Given the description of an element on the screen output the (x, y) to click on. 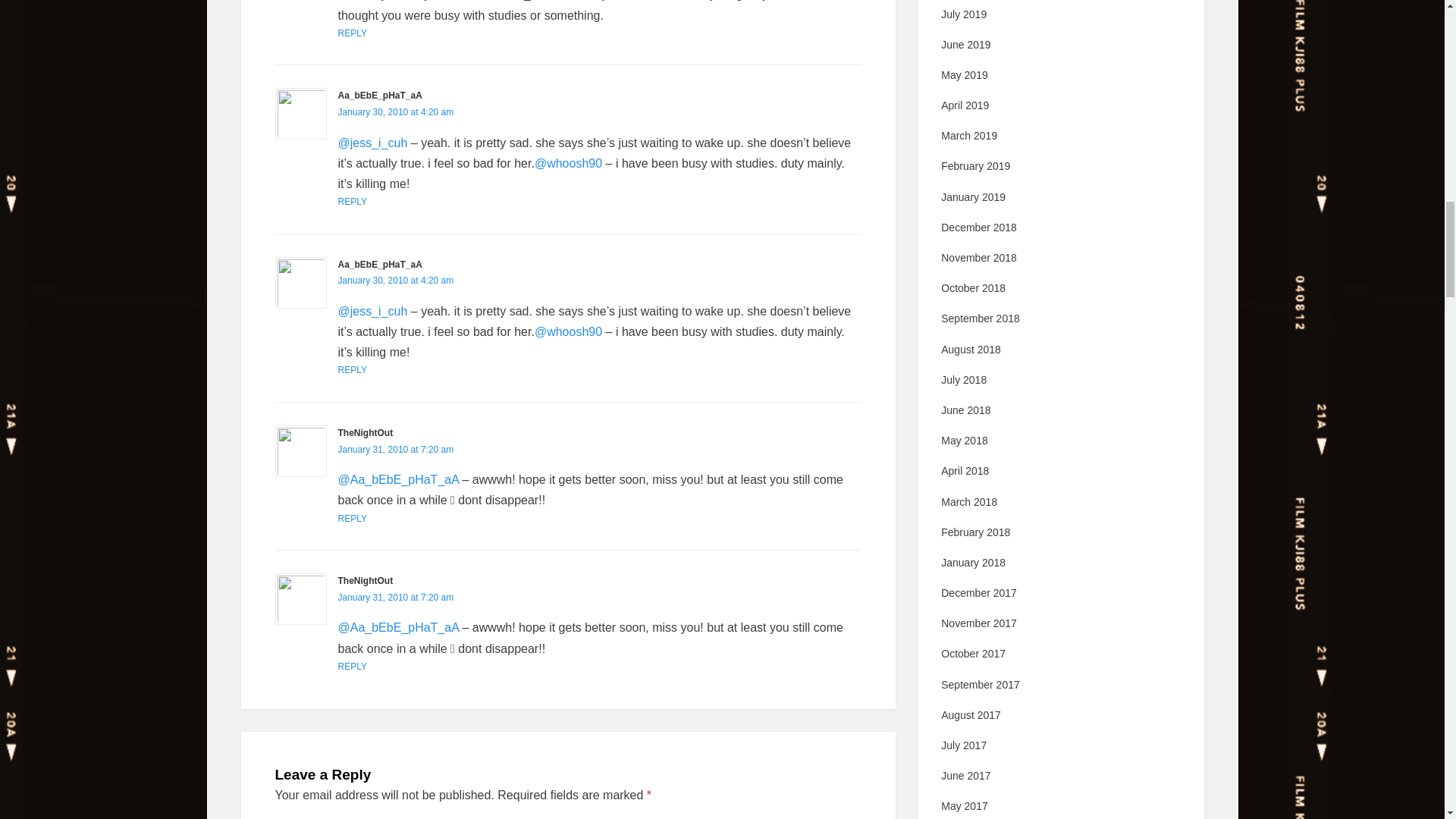
January 30, 2010 at 4:20 am (395, 280)
REPLY (351, 32)
January 30, 2010 at 4:20 am (395, 112)
January 31, 2010 at 7:20 am (395, 449)
TheNightOut (365, 580)
REPLY (351, 518)
TheNightOut (365, 432)
REPLY (351, 201)
REPLY (351, 369)
